Given the description of an element on the screen output the (x, y) to click on. 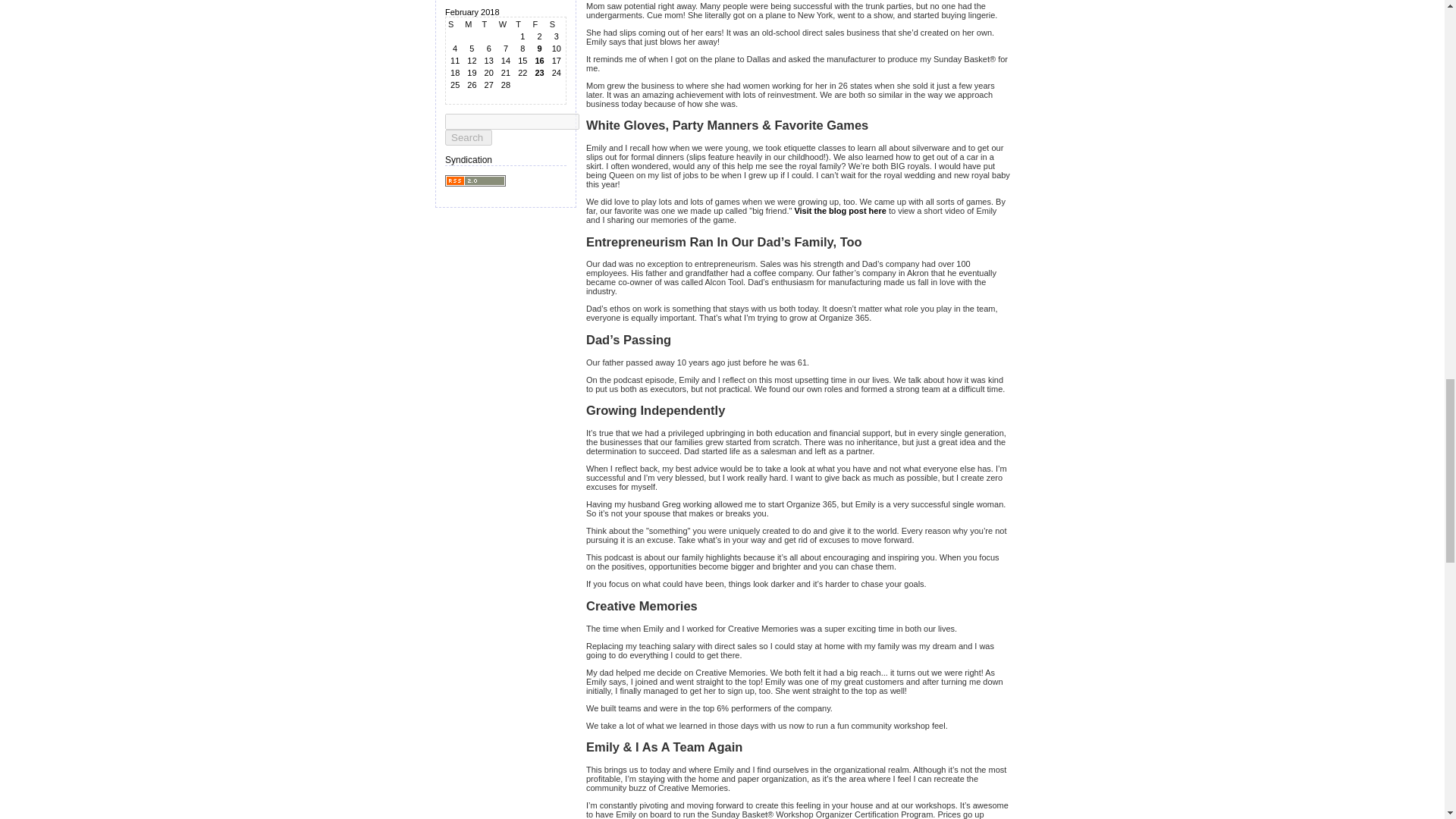
Sunday (454, 23)
Search  (468, 137)
Monday (471, 23)
Wednesday (505, 23)
Saturday (556, 23)
Thursday (522, 23)
Tuesday (488, 23)
Friday (539, 23)
